Given the description of an element on the screen output the (x, y) to click on. 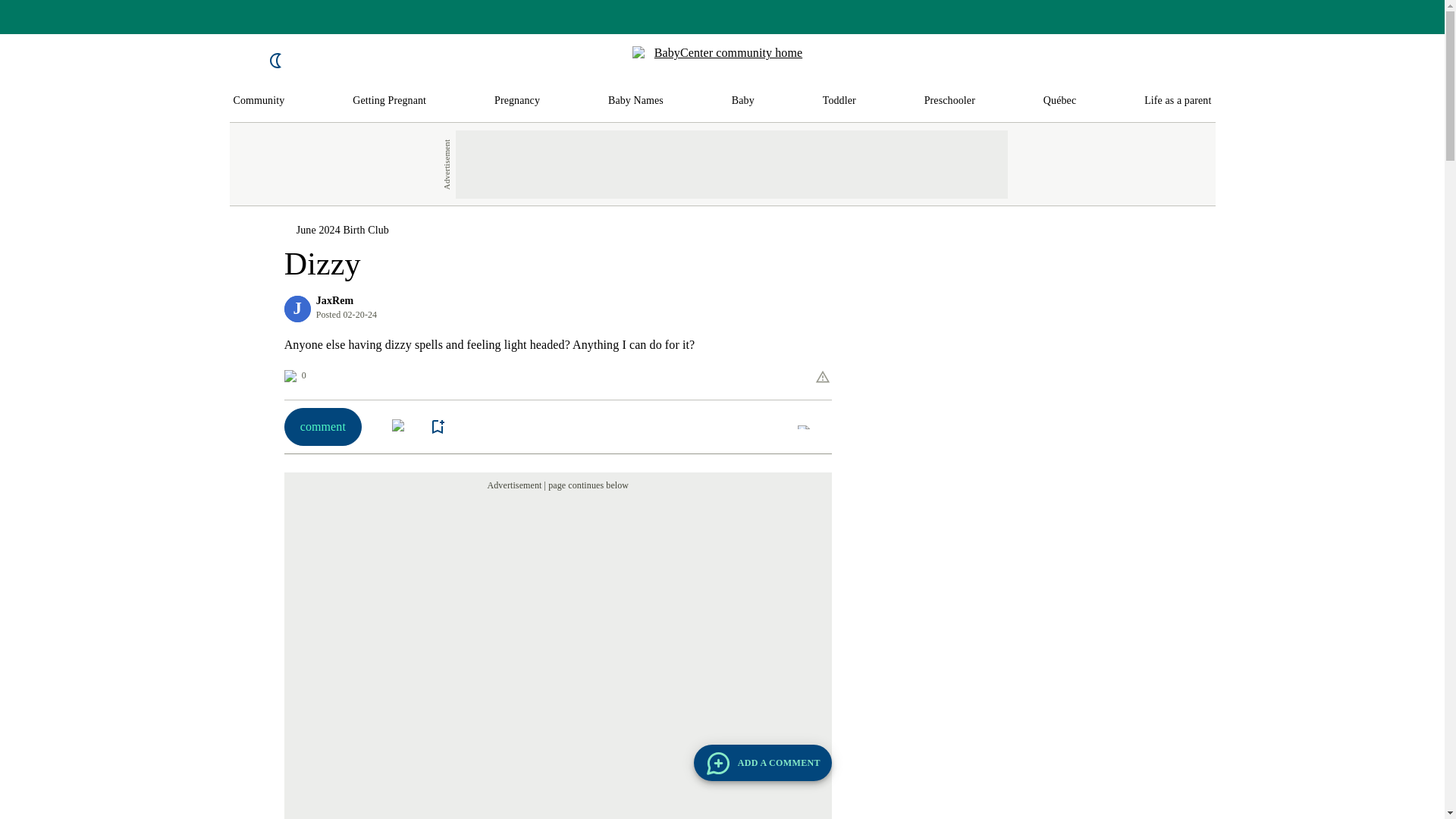
Preschooler (949, 101)
Pregnancy (517, 101)
Baby (743, 101)
Community (258, 101)
Life as a parent (1177, 101)
Getting Pregnant (389, 101)
Baby Names (635, 101)
Toddler (839, 101)
